Given the description of an element on the screen output the (x, y) to click on. 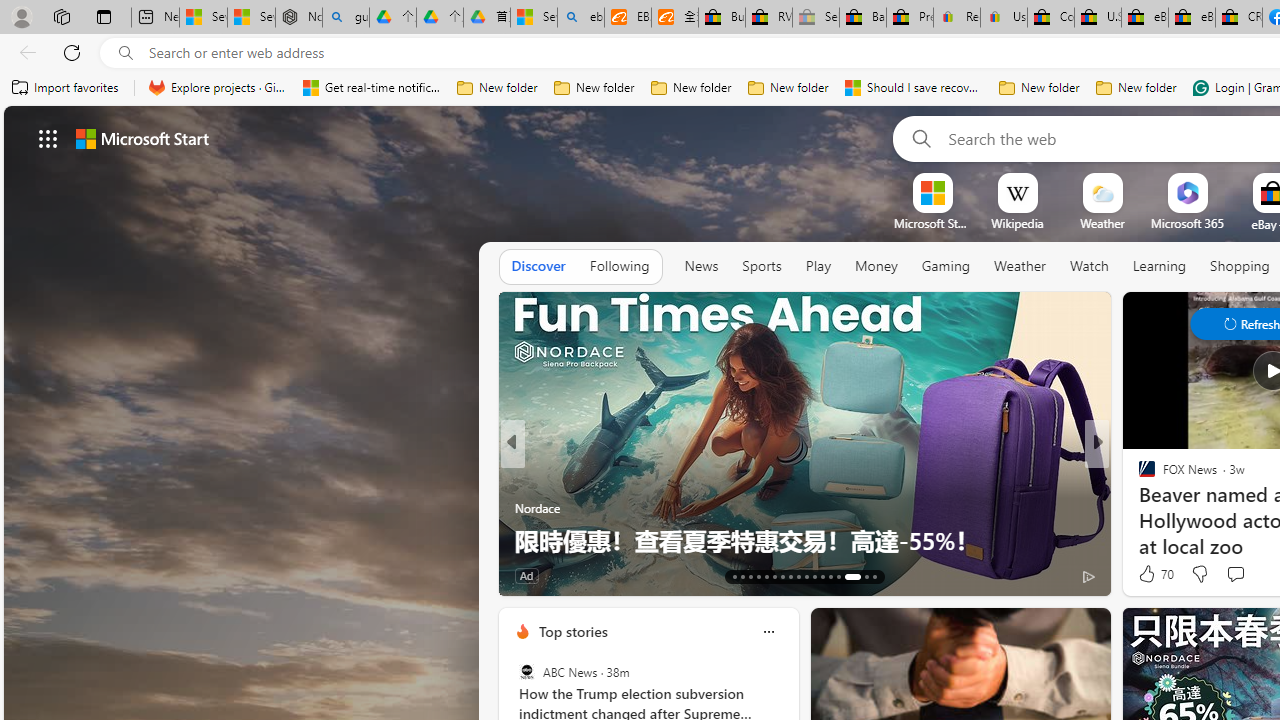
View comments 24 Comment (11, 575)
AutomationID: tab-35 (874, 576)
More options (768, 631)
Gaming (945, 265)
AutomationID: tab-15 (750, 576)
Press Room - eBay Inc. (910, 17)
AutomationID: tab-14 (742, 576)
See more (478, 315)
Watch (1089, 265)
App launcher (47, 138)
Microsoft start (142, 138)
Microsoft Start Sports (932, 223)
Dislike (1199, 574)
Wikipedia (1017, 223)
